Given the description of an element on the screen output the (x, y) to click on. 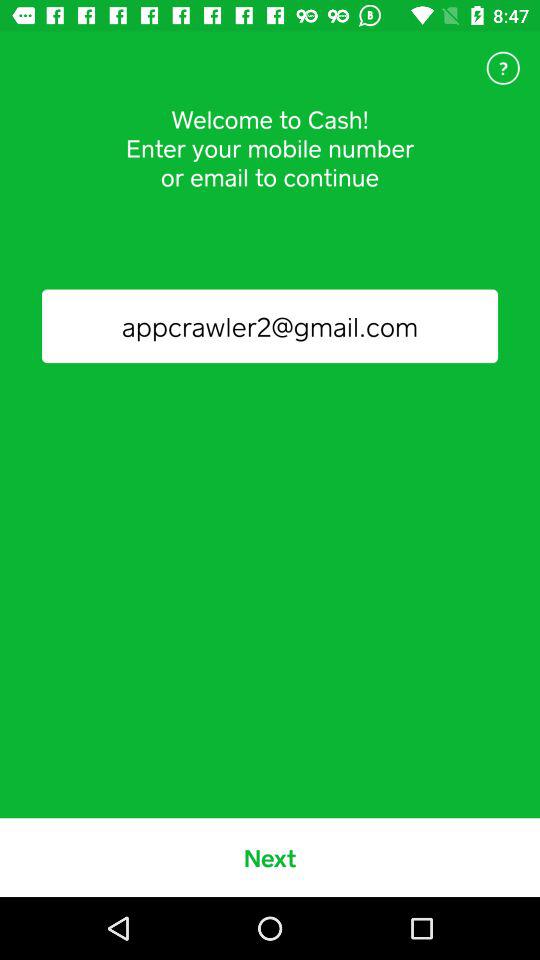
turn on icon above the appcrawler2@gmail.com item (503, 68)
